Given the description of an element on the screen output the (x, y) to click on. 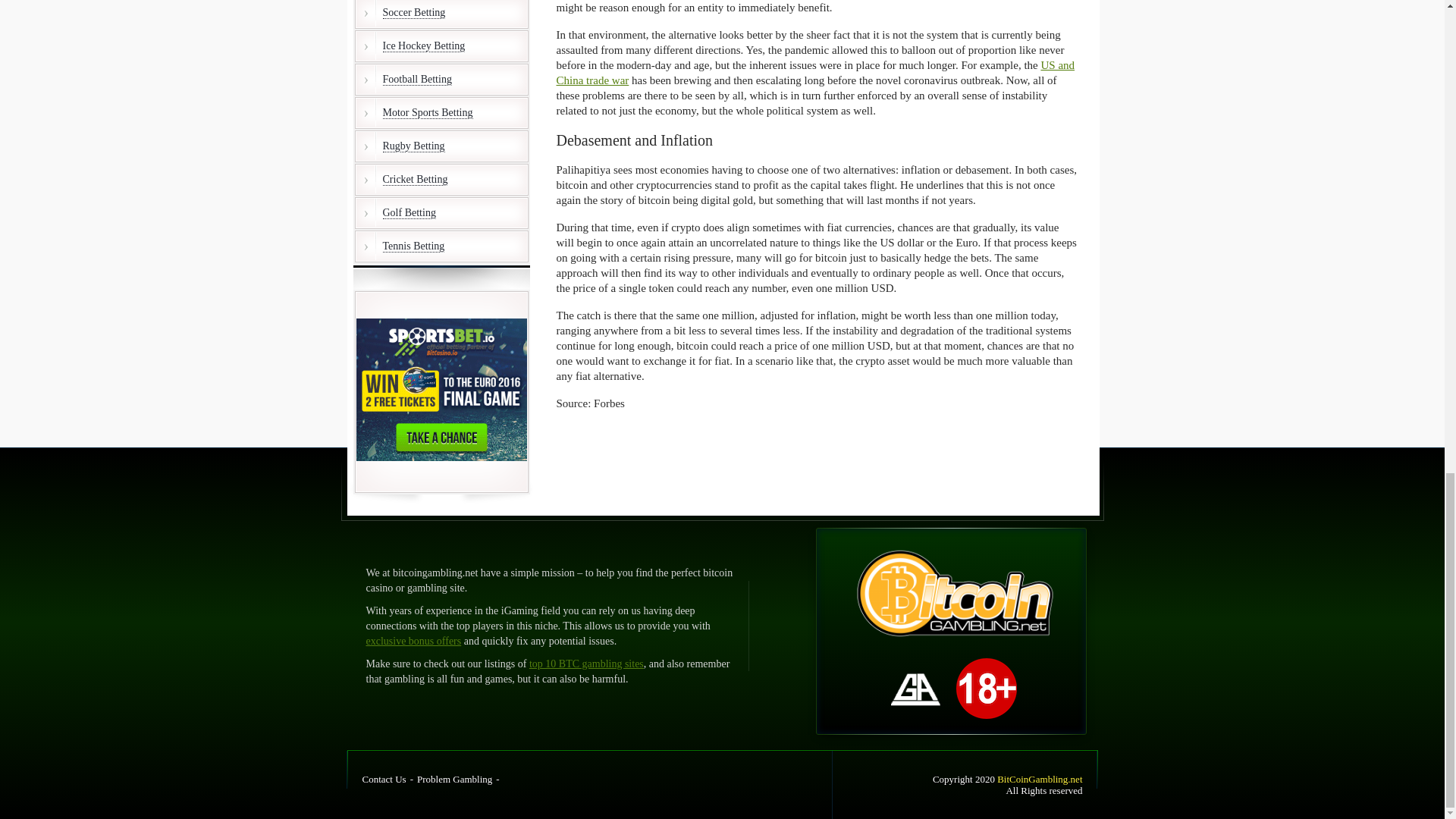
US and China trade war (815, 72)
